Given the description of an element on the screen output the (x, y) to click on. 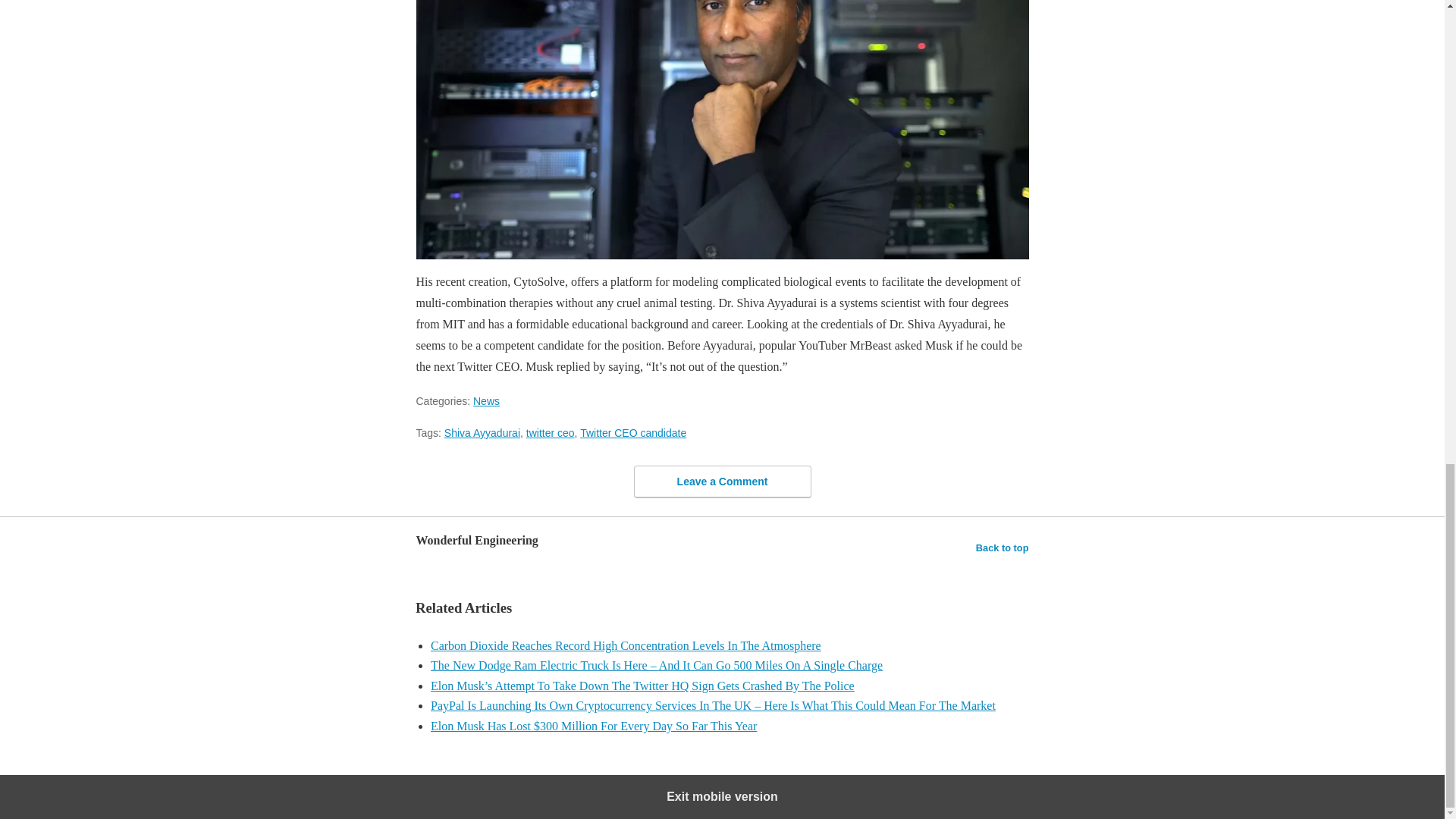
Twitter CEO candidate (632, 432)
News (486, 400)
Leave a Comment (721, 481)
Shiva Ayyadurai (481, 432)
twitter ceo (550, 432)
Back to top (1002, 547)
